Given the description of an element on the screen output the (x, y) to click on. 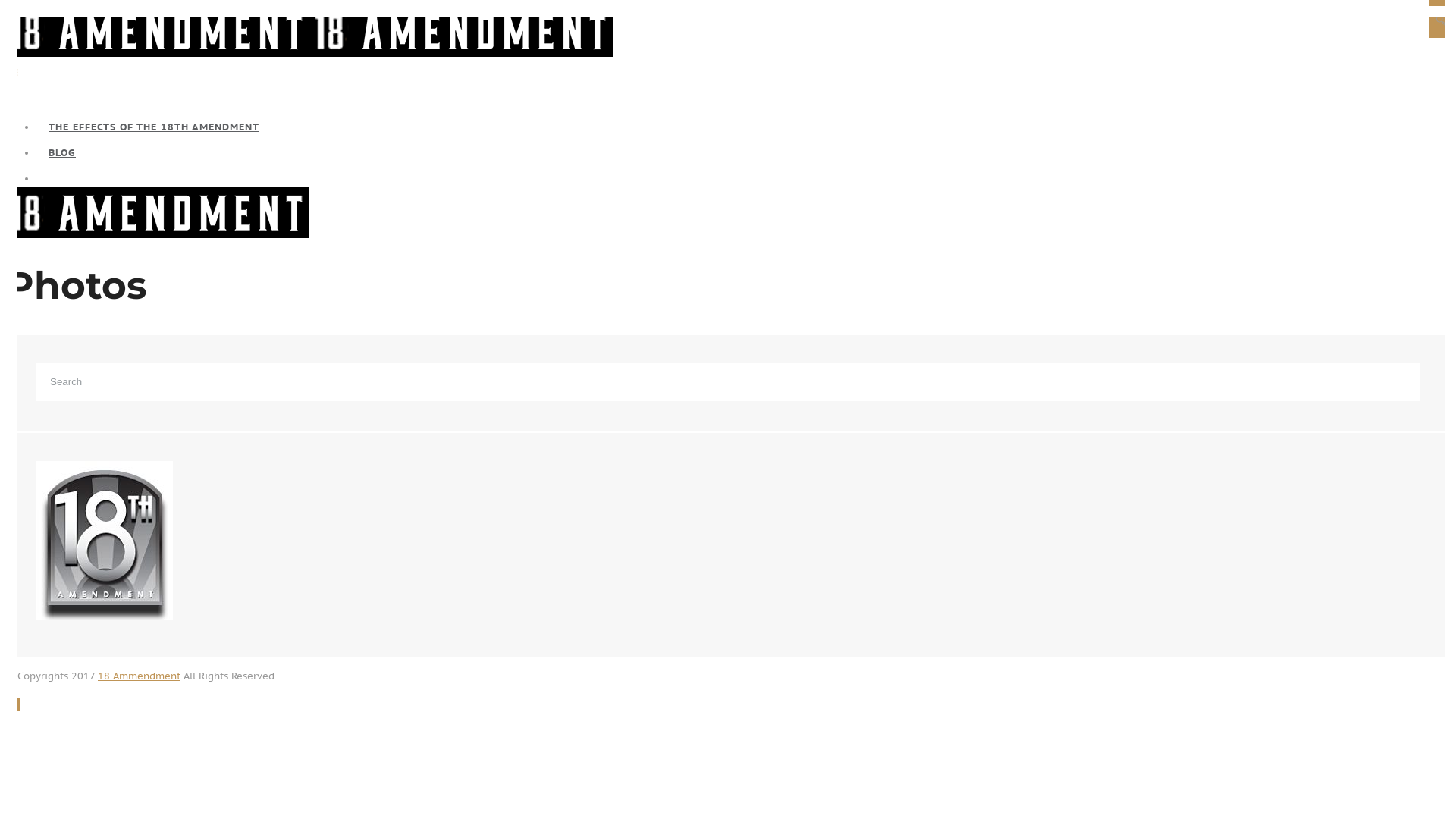
Search for: Element type: hover (727, 382)
CONTACT Element type: text (742, 229)
THE EFFECTS OF THE 18TH AMENDMENT Element type: text (742, 126)
TERMS & PRIVACY POLICY Element type: text (742, 204)
PHOTOS Element type: text (742, 178)
BLOG Element type: text (742, 152)
18 Ammendment Element type: text (138, 675)
Scroll to top Element type: hover (12, 704)
